Given the description of an element on the screen output the (x, y) to click on. 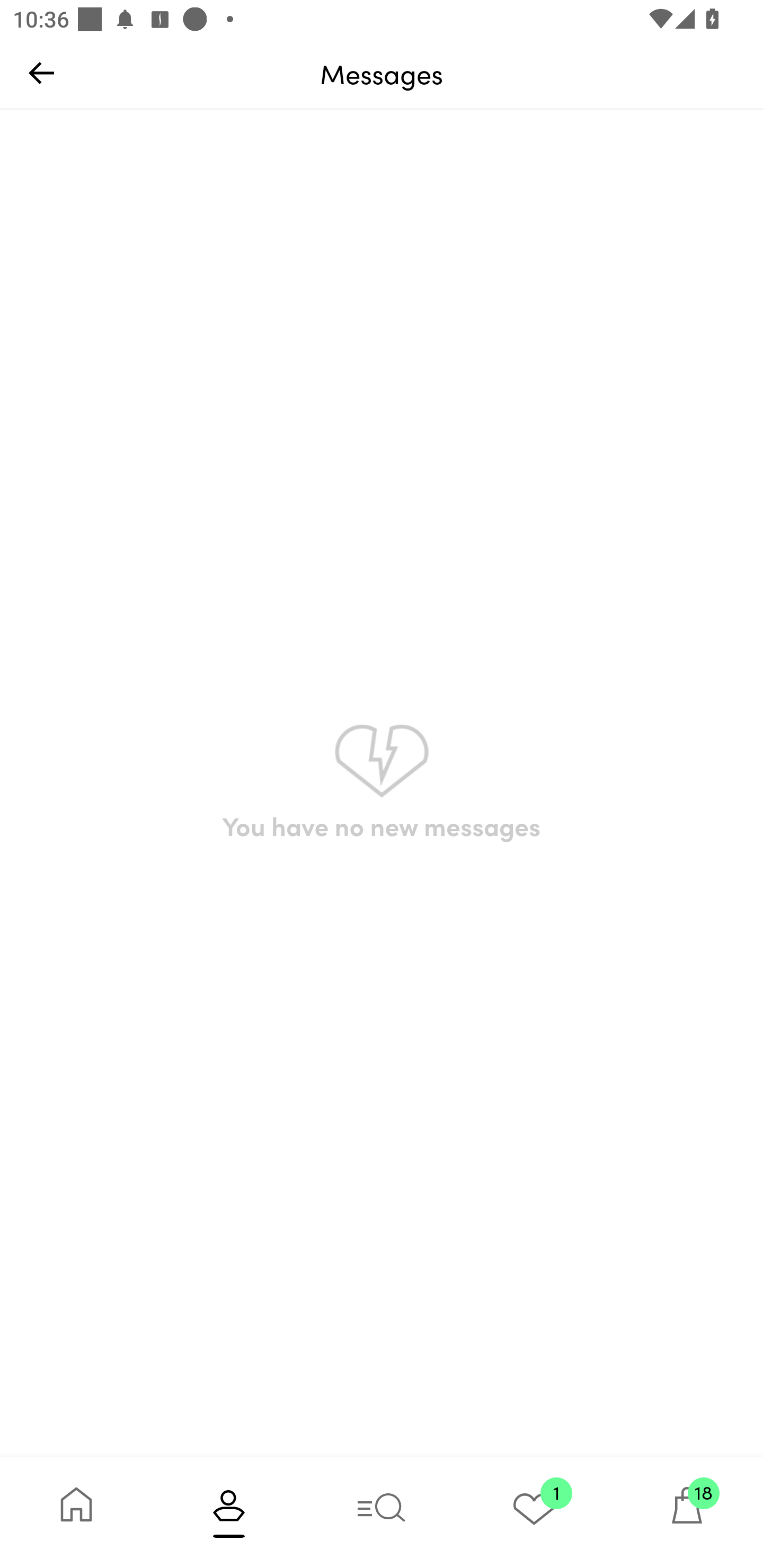
1 (533, 1512)
18 (686, 1512)
